Given the description of an element on the screen output the (x, y) to click on. 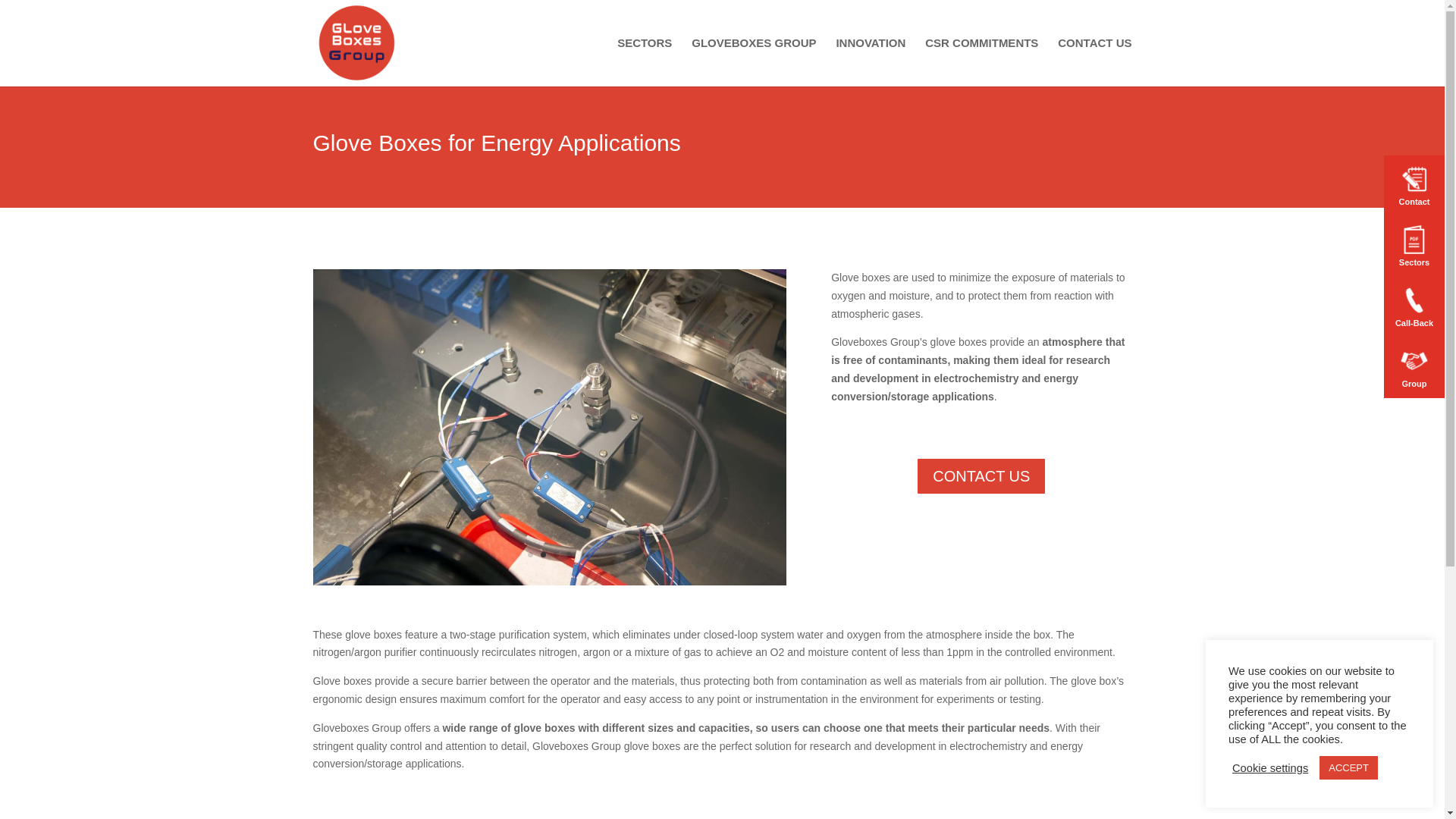
4 (569, 554)
INNOVATION (870, 61)
energy-GloveBoxesGroup-Lithium-batteries (549, 581)
1 (529, 554)
CONTACT US (1094, 61)
Cookie settings (1269, 767)
2 (543, 554)
CONTACT US (980, 476)
ACCEPT (1348, 767)
SECTORS (644, 61)
